Given the description of an element on the screen output the (x, y) to click on. 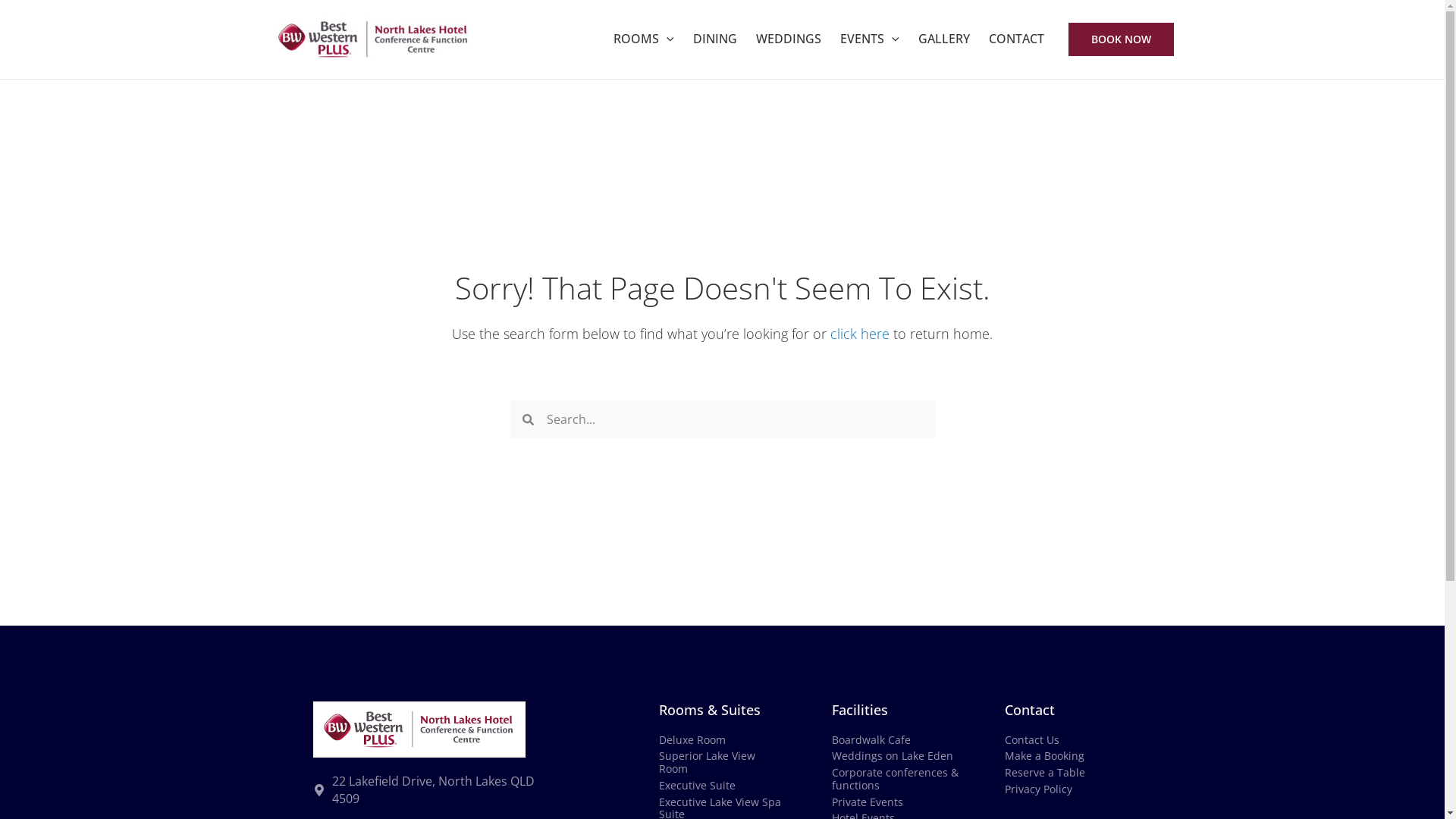
ROOMS Element type: text (643, 38)
Corporate conferences & functions Element type: text (894, 779)
BOOK NOW Element type: text (1121, 39)
Weddings on Lake Eden Element type: text (894, 755)
WEDDINGS Element type: text (788, 38)
Privacy Policy Element type: text (1067, 789)
DINING Element type: text (714, 38)
GALLERY Element type: text (943, 38)
Reserve a Table Element type: text (1067, 772)
Search Element type: hover (733, 419)
EVENTS Element type: text (869, 38)
Superior Lake View Room Element type: text (721, 762)
Executive Suite Element type: text (721, 785)
CONTACT Element type: text (1015, 38)
Contact Us Element type: text (1067, 740)
Private Events Element type: text (894, 802)
Make a Booking Element type: text (1067, 755)
Boardwalk Cafe Element type: text (894, 740)
click here Element type: text (859, 333)
Deluxe Room Element type: text (721, 740)
